Given the description of an element on the screen output the (x, y) to click on. 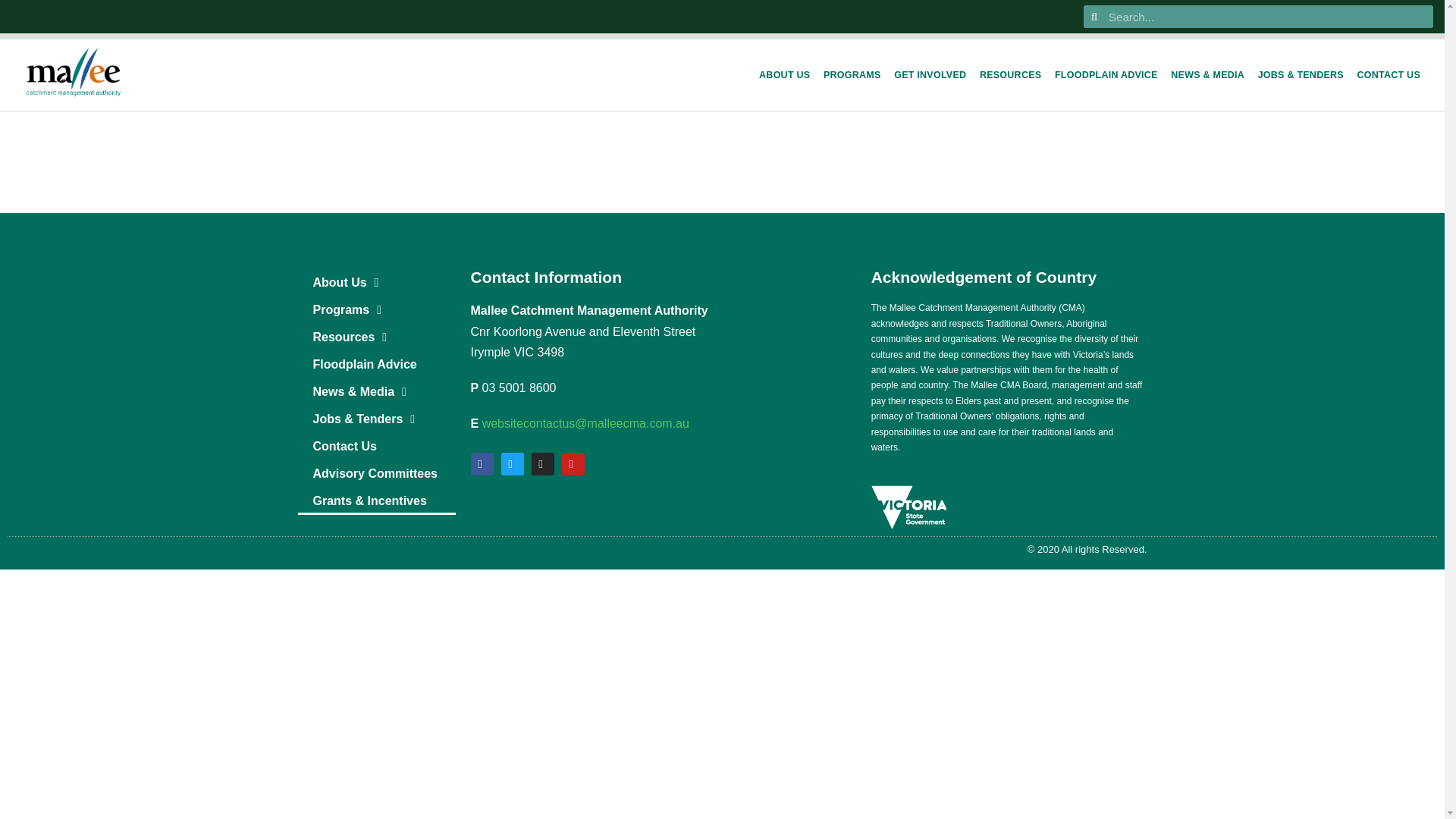
PROGRAMS (852, 74)
GET INVOLVED (929, 74)
CONTACT US (1388, 74)
FLOODPLAIN ADVICE (1105, 74)
RESOURCES (1010, 74)
ABOUT US (783, 74)
